Given the description of an element on the screen output the (x, y) to click on. 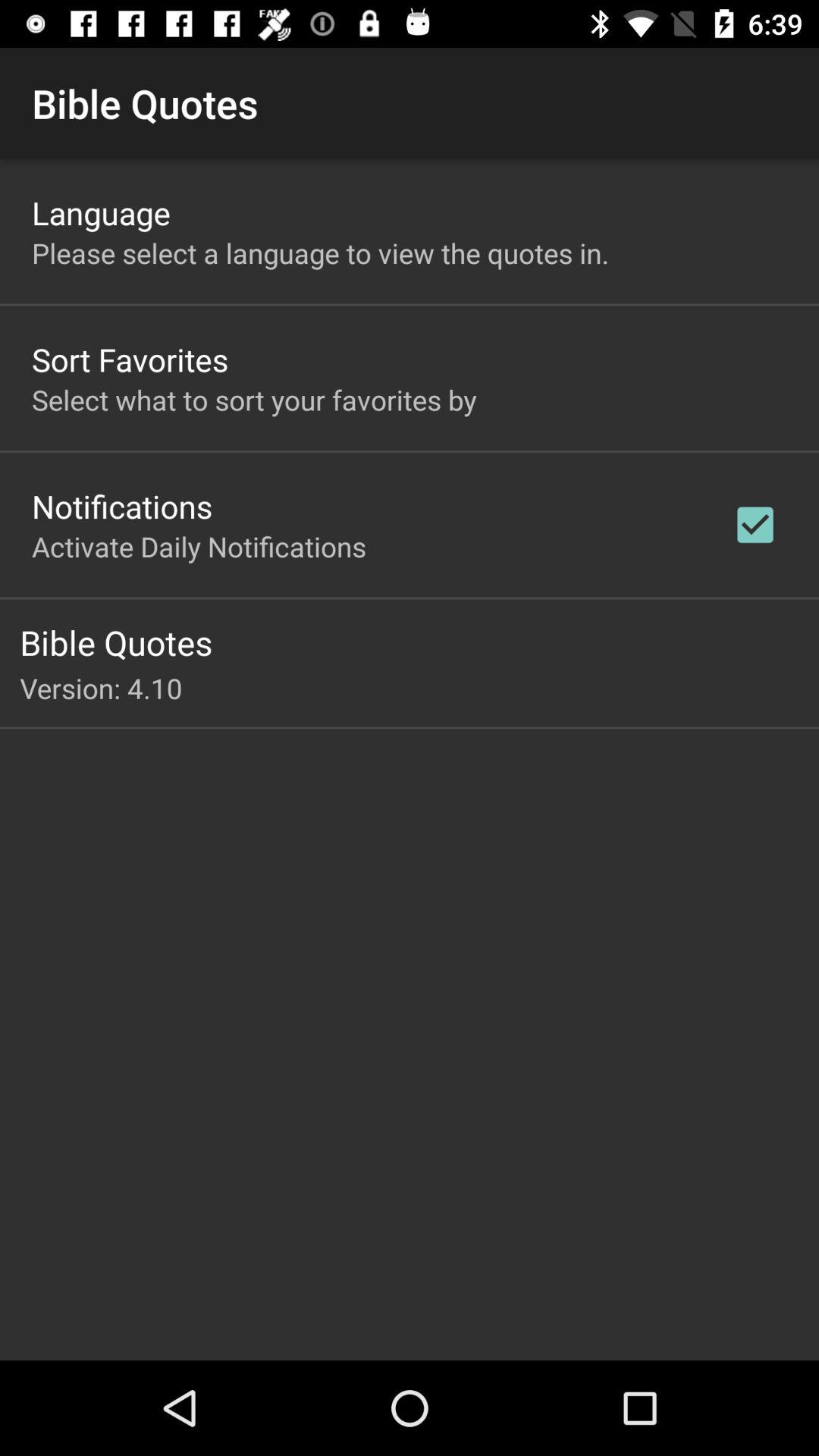
choose the item next to activate daily notifications icon (755, 524)
